Given the description of an element on the screen output the (x, y) to click on. 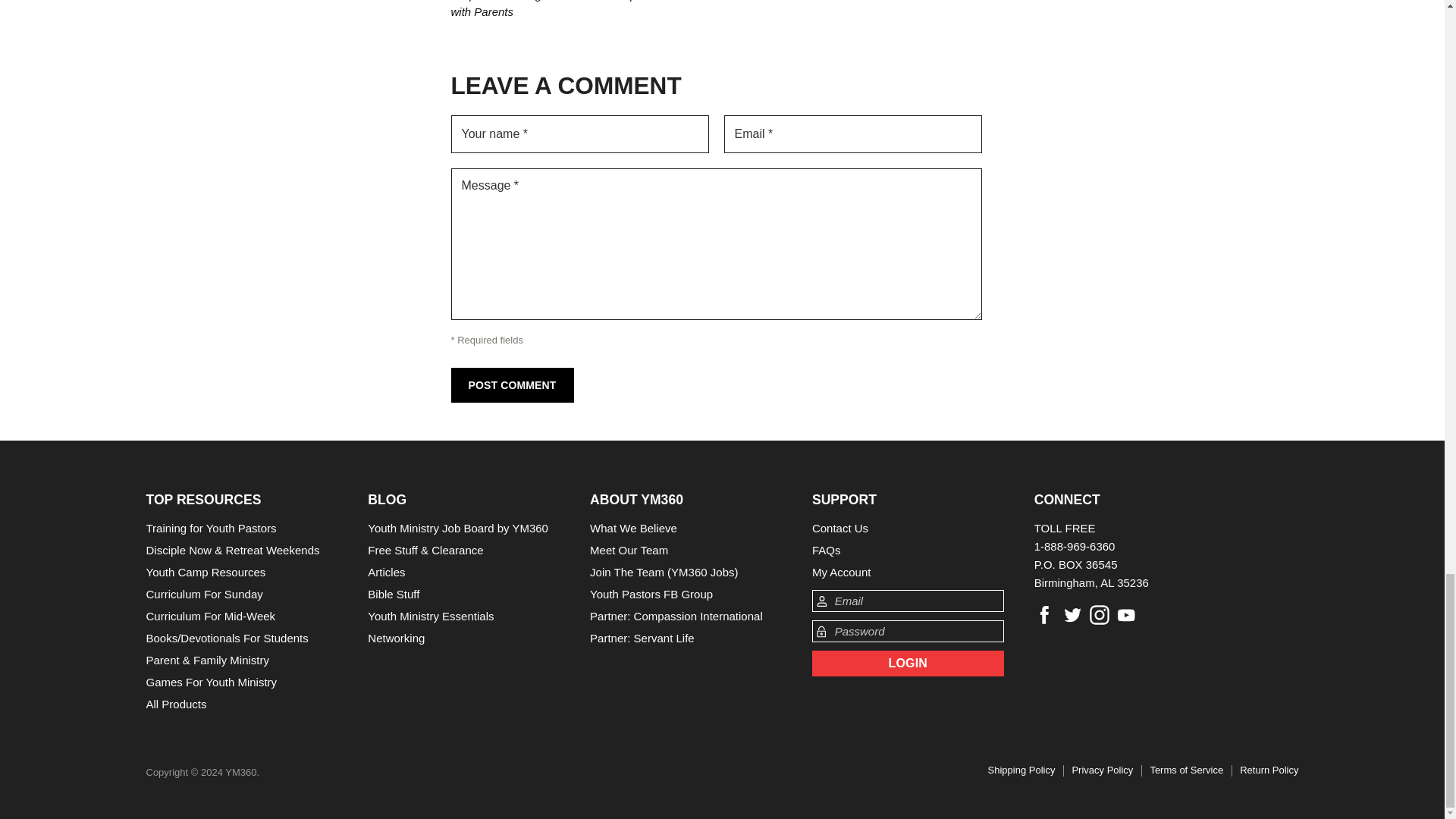
Facebook (1044, 614)
Youtube (1126, 614)
Twitter (1072, 614)
Login (908, 662)
Instagram (1099, 614)
